Given the description of an element on the screen output the (x, y) to click on. 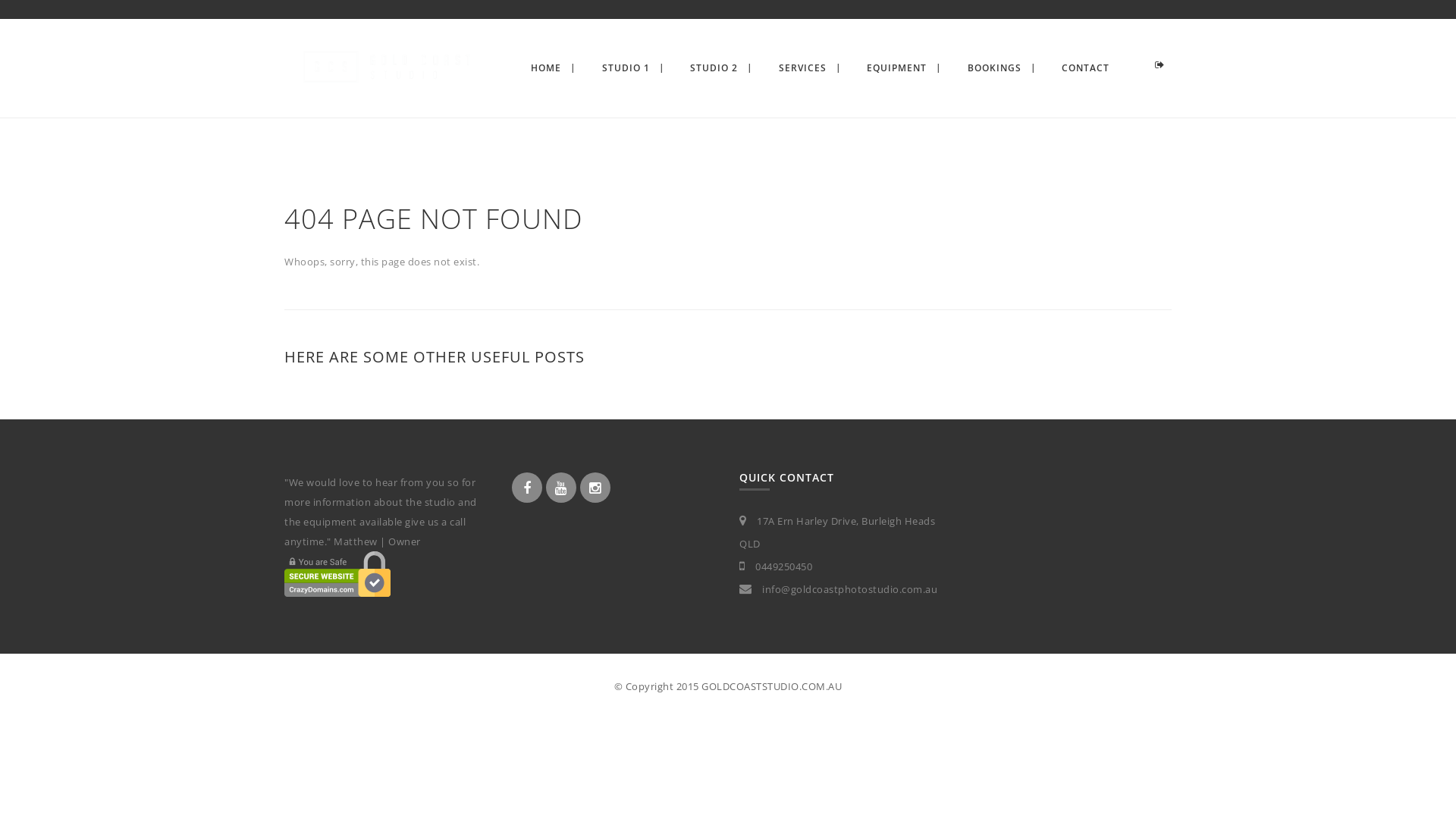
HOME Element type: text (545, 67)
BOOKINGS Element type: text (994, 67)
CONTACT Element type: text (1085, 67)
STUDIO 1 Element type: text (625, 67)
EQUIPMENT Element type: text (896, 67)
SERVICES Element type: text (801, 67)
STUDIO 2 Element type: text (713, 67)
